Given the description of an element on the screen output the (x, y) to click on. 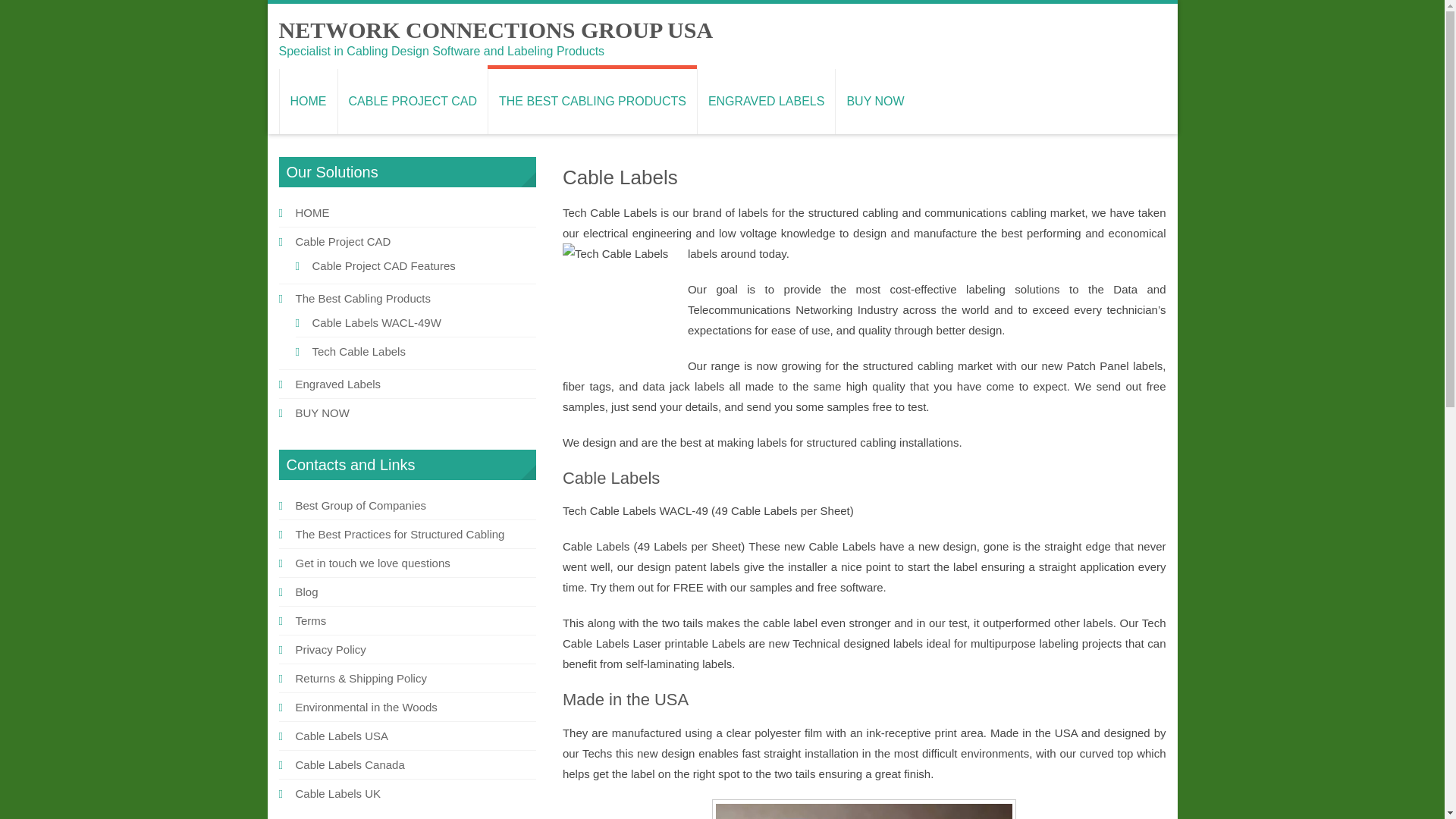
HOME (312, 212)
Tech Cable Labels (359, 350)
Cable Project CAD (343, 241)
The Best Practices for Structured Cabling (400, 533)
Cable Labels UK (338, 793)
Terms (310, 620)
HOME (308, 101)
Cable Project CAD Features (384, 265)
ENGRAVED LABELS (766, 101)
Best Group of Companies (360, 504)
Environmental in the Woods (366, 707)
BUY NOW (322, 412)
The Best Cabling Products (362, 297)
Cable Labels USA (341, 735)
Blog (306, 591)
